Given the description of an element on the screen output the (x, y) to click on. 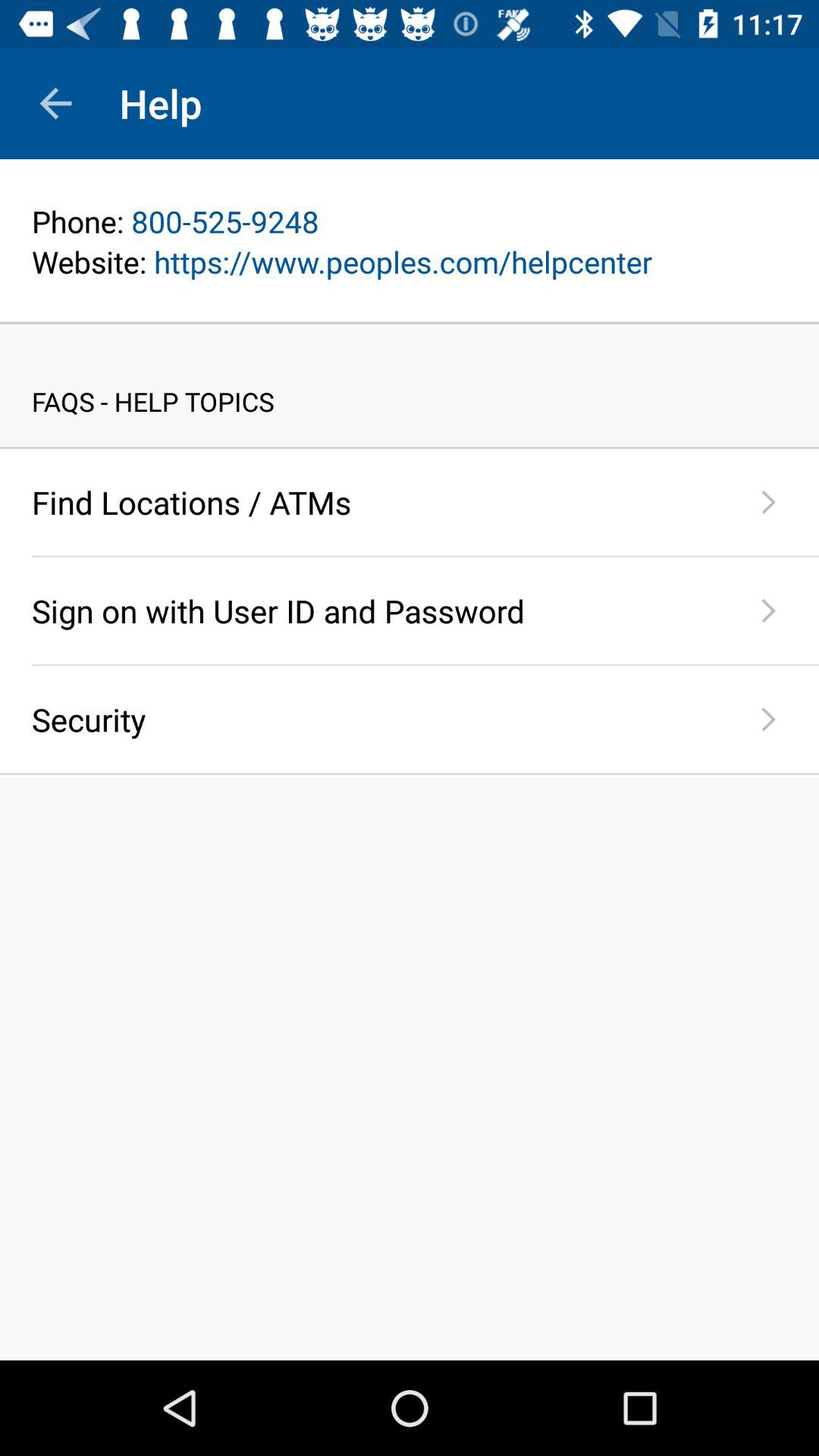
launch security item (374, 719)
